Given the description of an element on the screen output the (x, y) to click on. 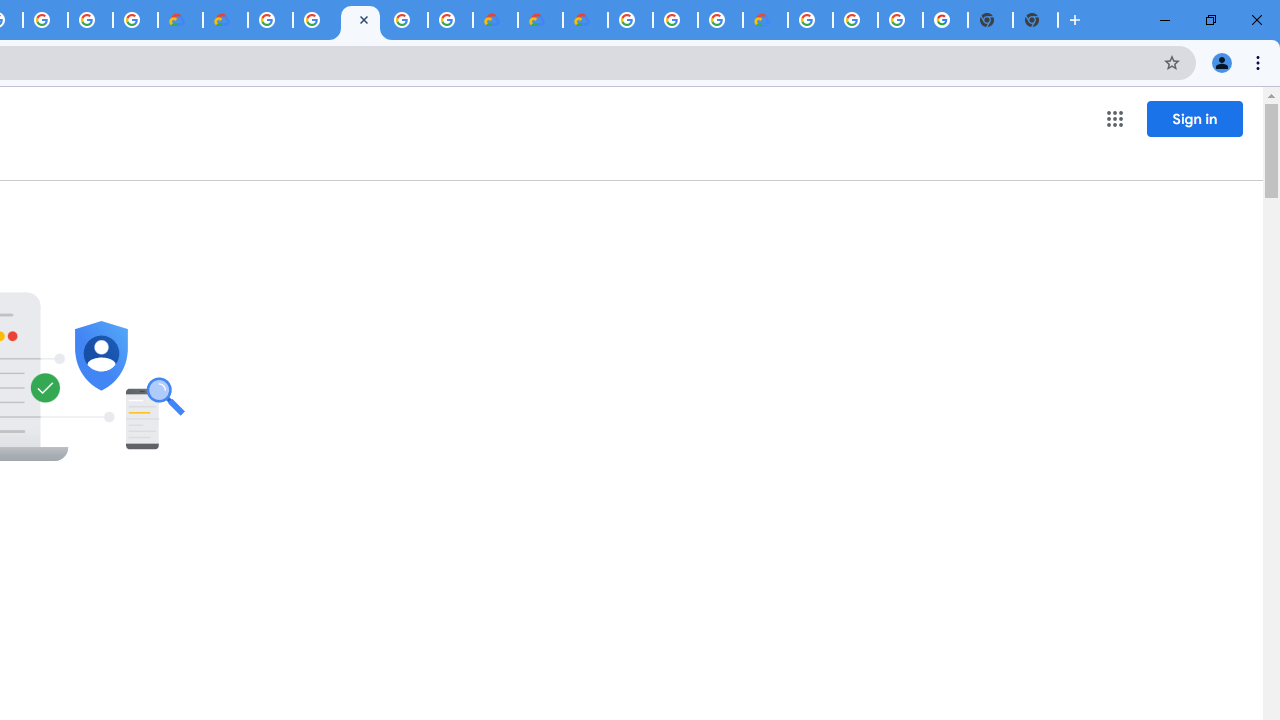
Customer Care | Google Cloud (180, 20)
